Given the description of an element on the screen output the (x, y) to click on. 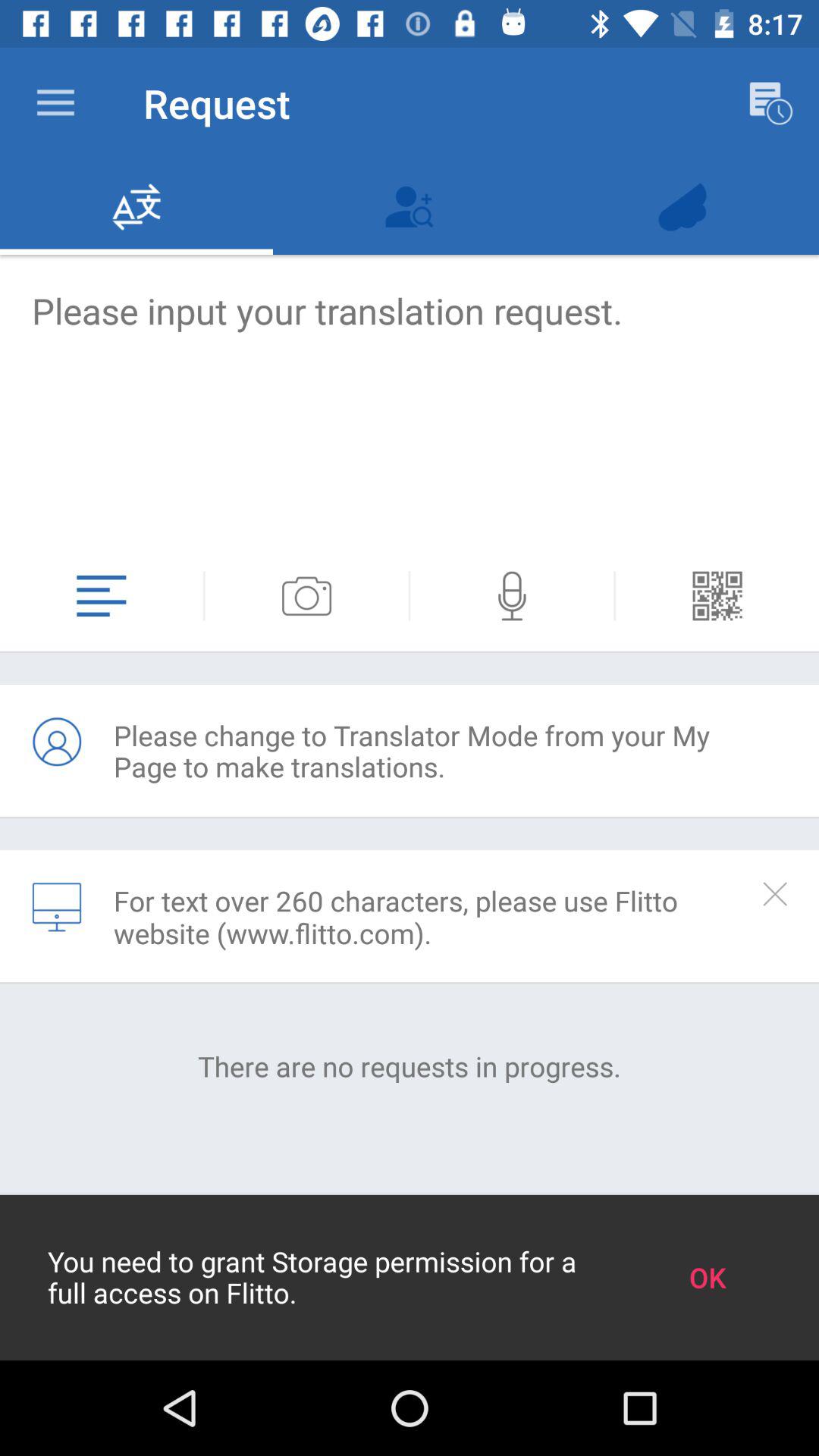
launch the item above the please change to icon (409, 596)
